Given the description of an element on the screen output the (x, y) to click on. 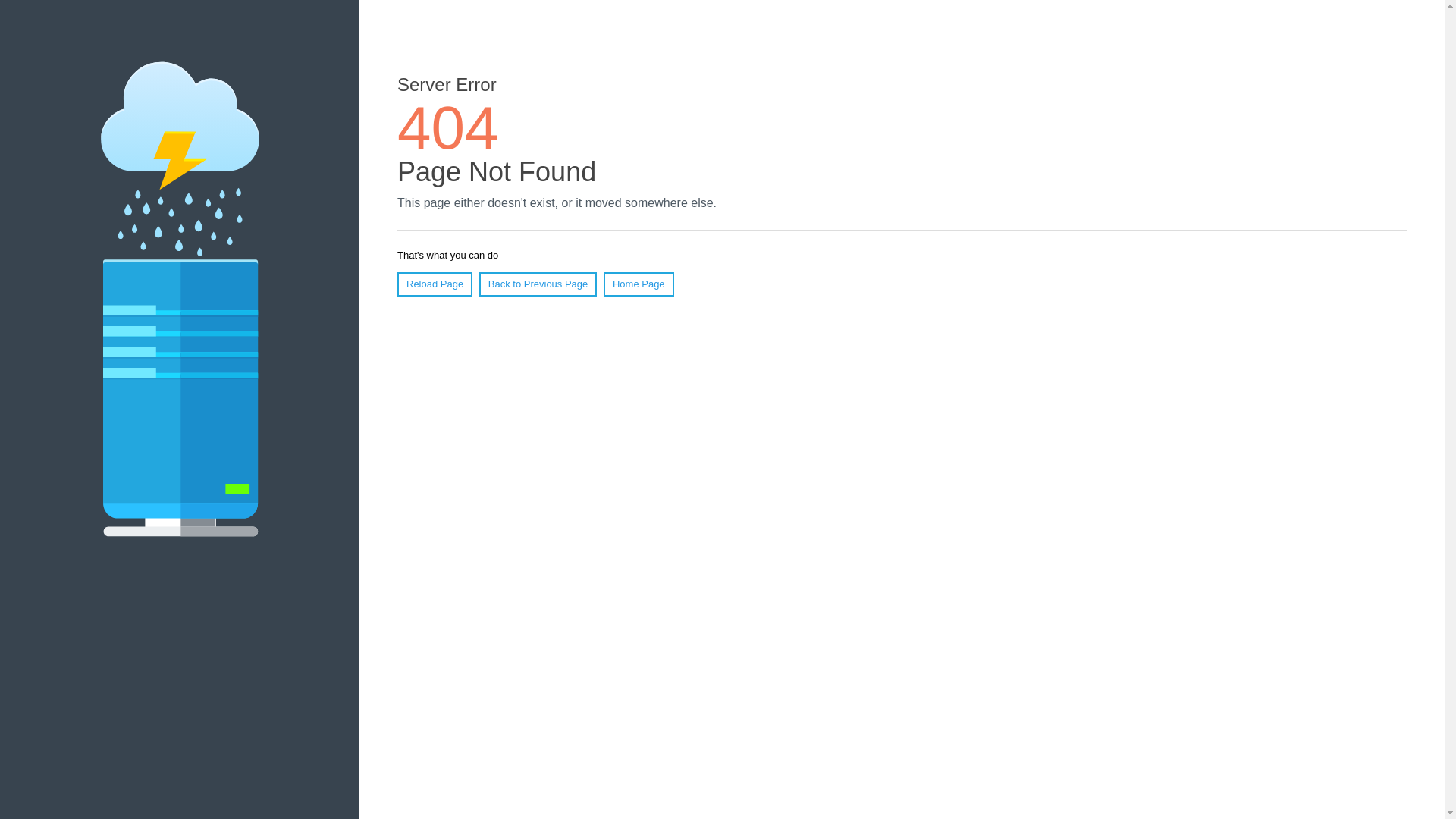
Home Page Element type: text (638, 284)
Back to Previous Page Element type: text (538, 284)
Reload Page Element type: text (434, 284)
